Given the description of an element on the screen output the (x, y) to click on. 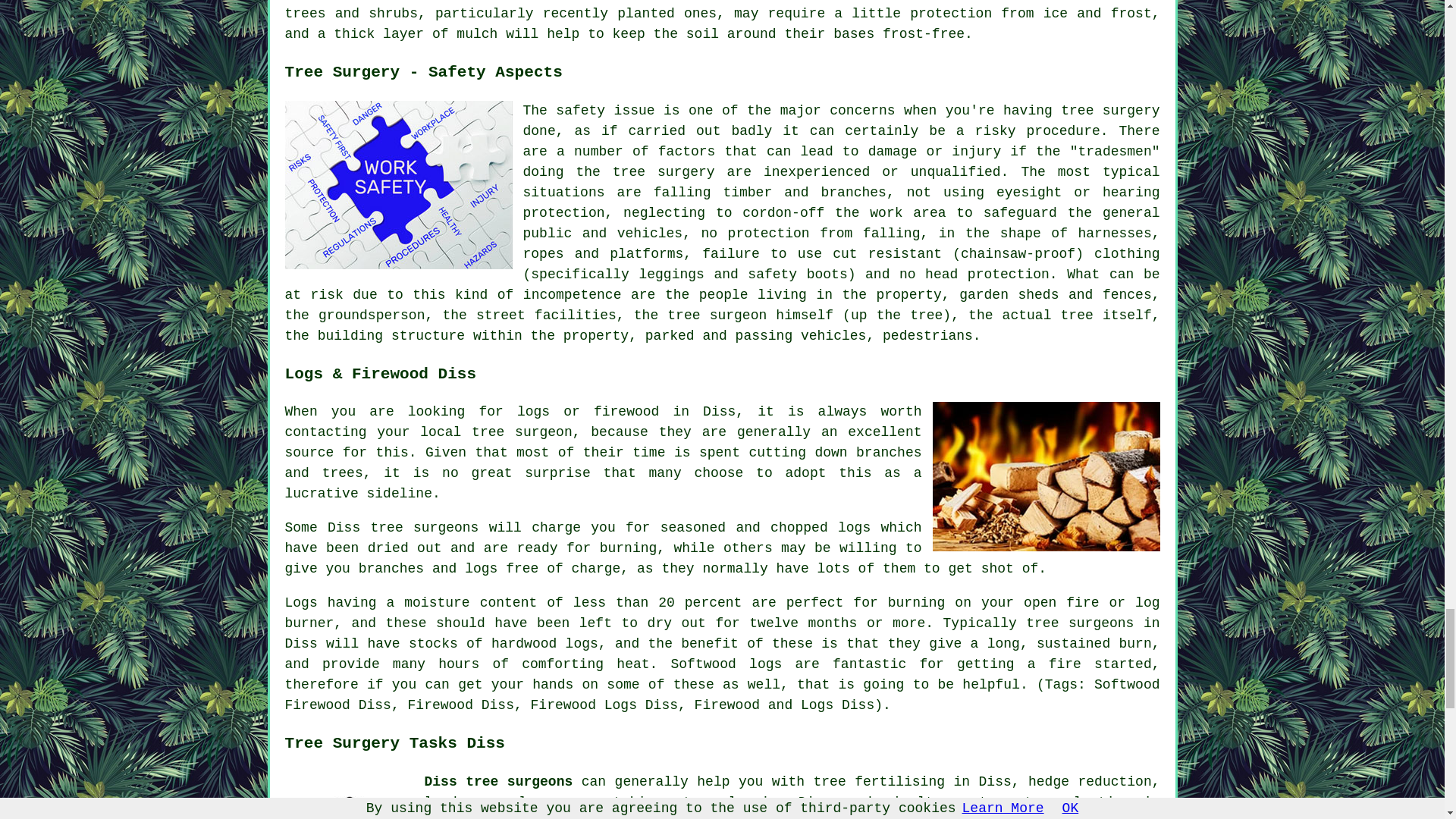
Tree Surgery Tasks Diss UK (349, 795)
Tree Safety Diss (398, 184)
Firewood Logs Diss (1046, 476)
